Given the description of an element on the screen output the (x, y) to click on. 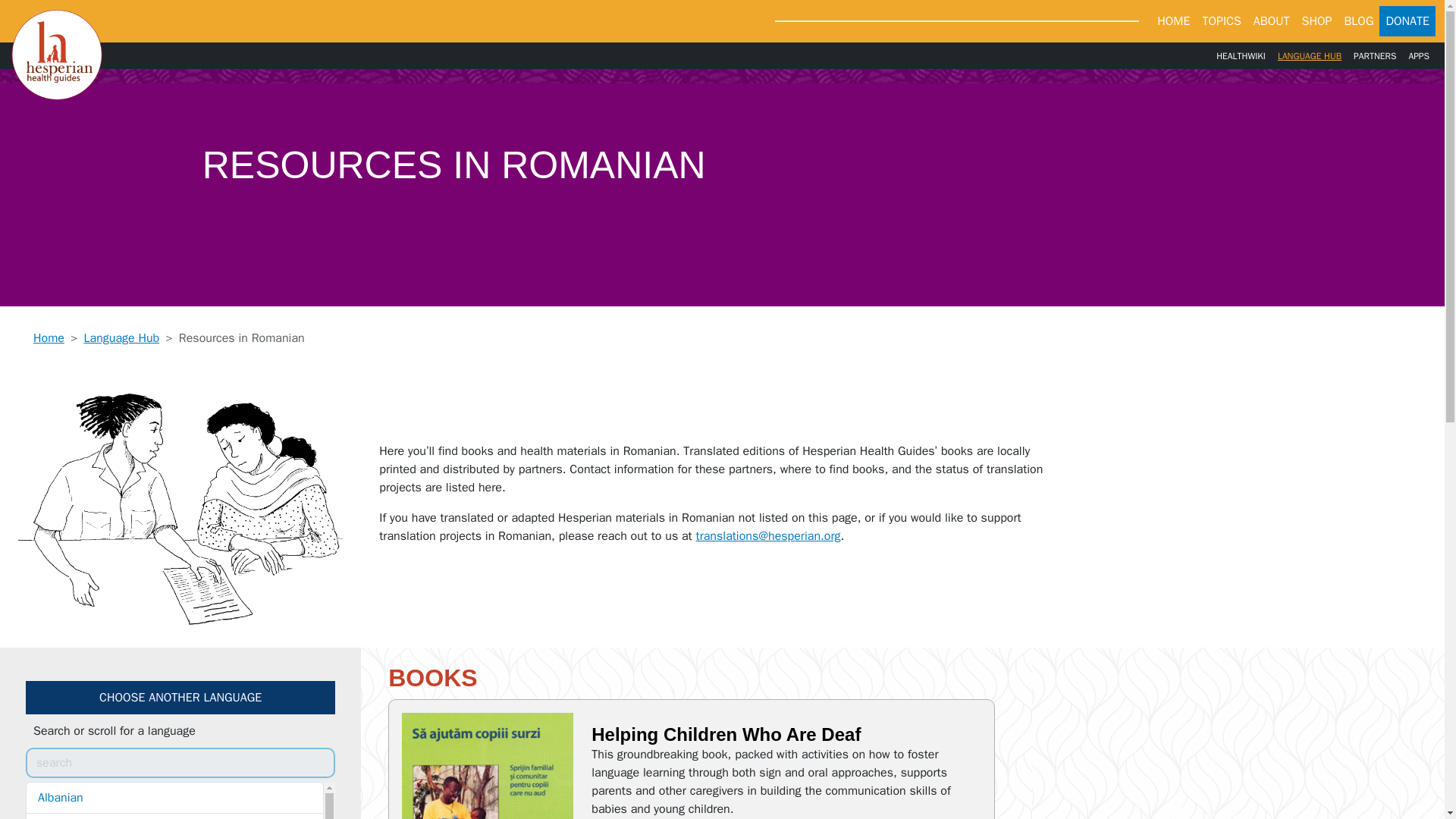
DONATE (1406, 20)
PARTNERS (1375, 54)
TOPICS (1220, 20)
SHOP (1316, 20)
HOME (1173, 20)
Language Hub (120, 337)
Albanian (174, 797)
APPS (1418, 54)
HEALTHWIKI (1240, 54)
ABOUT (1271, 20)
